Given the description of an element on the screen output the (x, y) to click on. 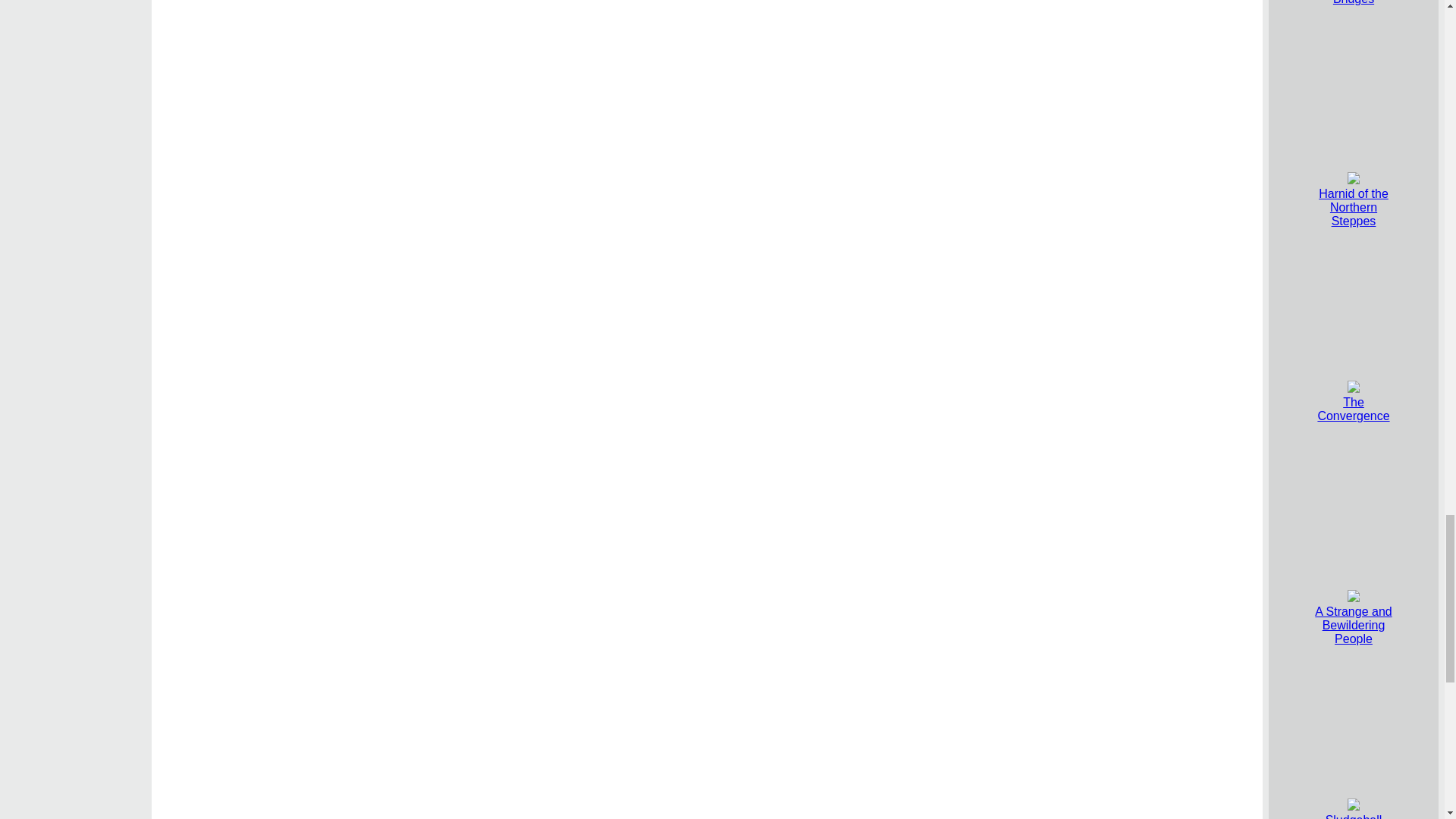
The Convergence (1353, 402)
Sludgeball (1352, 809)
Still More Bridges (1352, 2)
A Strange and Bewildering People (1352, 618)
Harnid of the Northern Steppes (1354, 200)
